Given the description of an element on the screen output the (x, y) to click on. 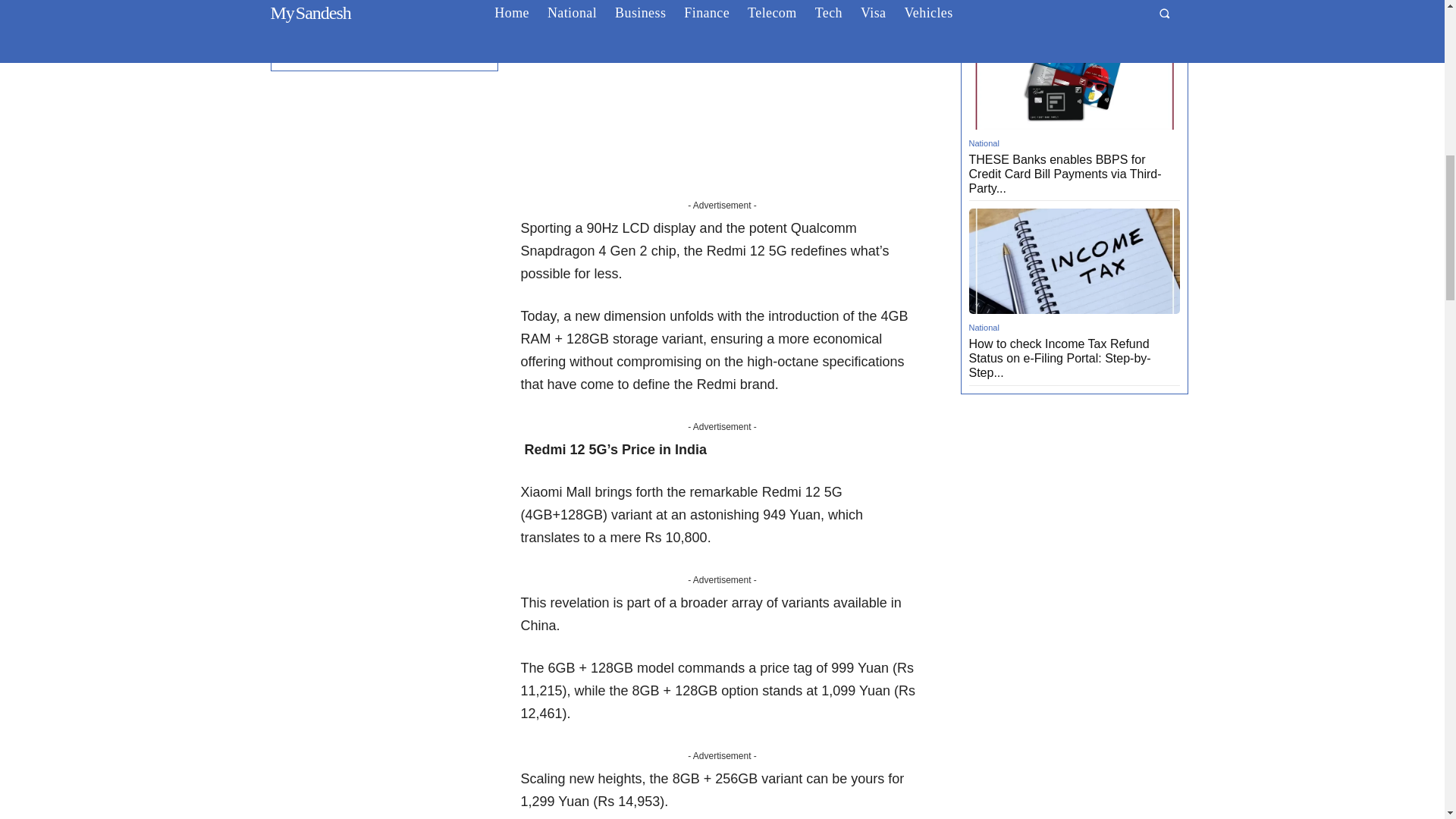
Advertisement (721, 97)
Thomson Introduces New Smart TV Range in India (375, 41)
